Given the description of an element on the screen output the (x, y) to click on. 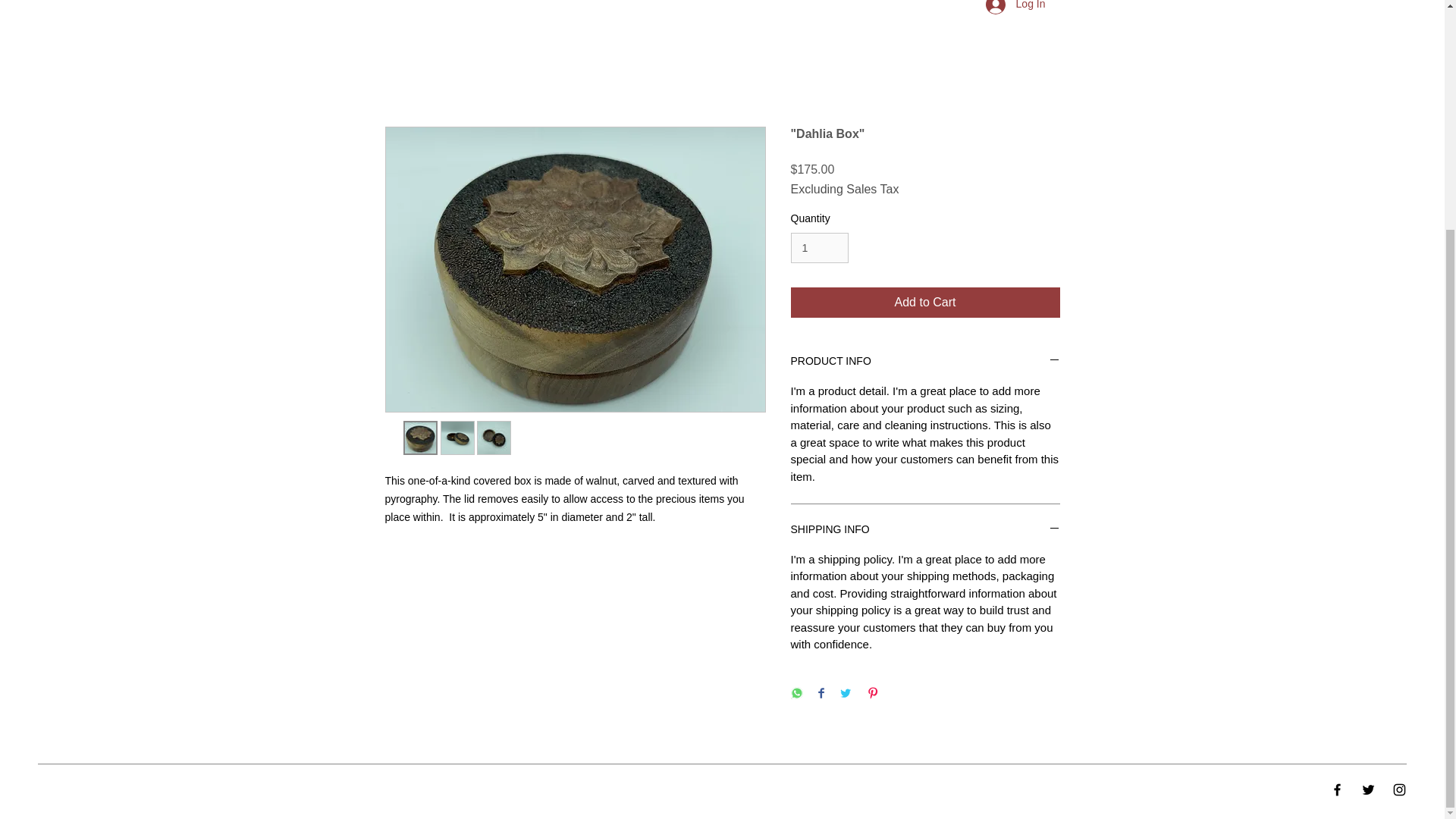
SHIPPING INFO (924, 530)
PRODUCT INFO (924, 361)
1 (818, 247)
Log In (1016, 9)
Add to Cart (924, 302)
